Given the description of an element on the screen output the (x, y) to click on. 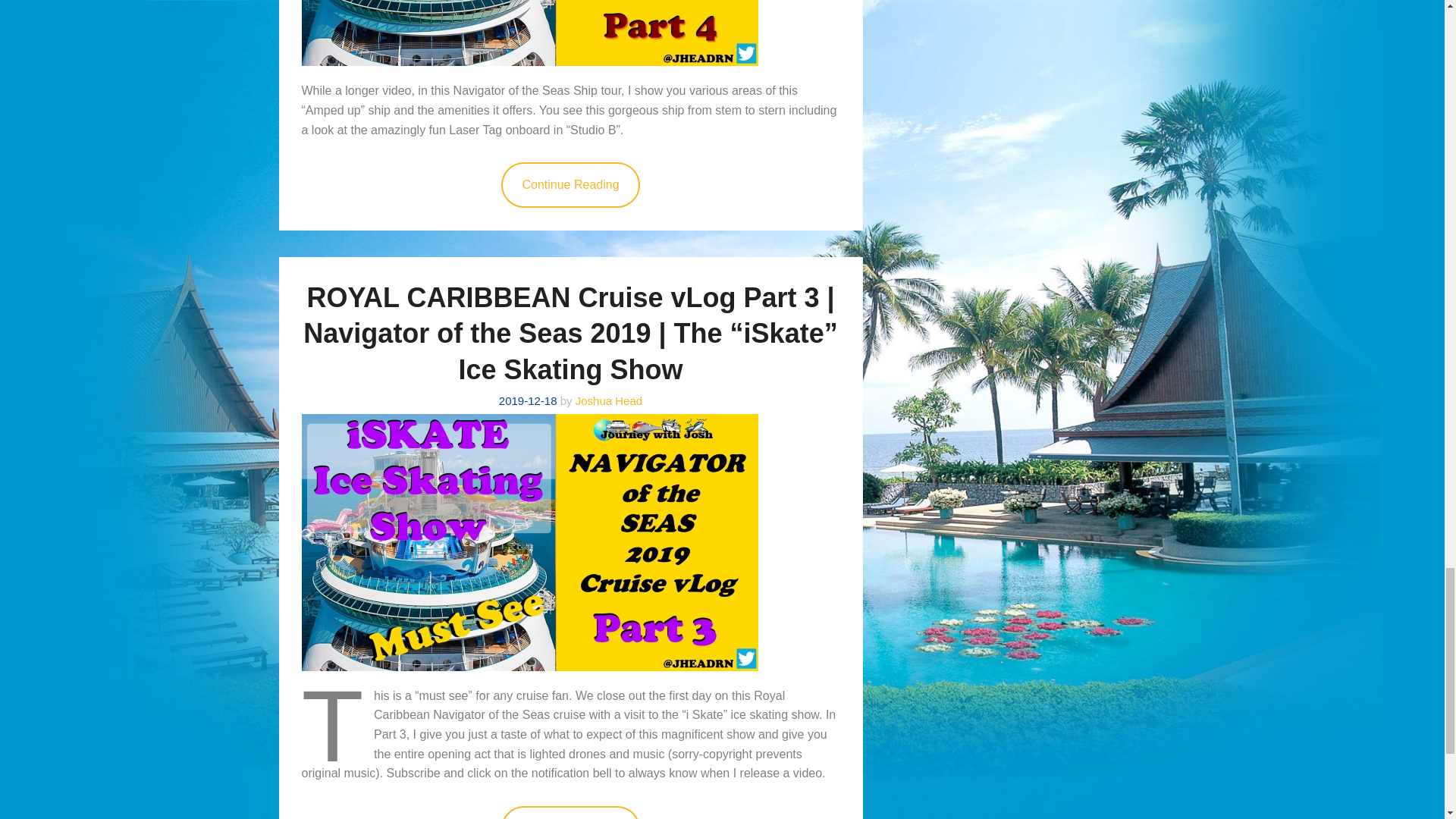
Continue Reading (569, 185)
Continue Reading (569, 812)
2019-12-18 (528, 400)
